Given the description of an element on the screen output the (x, y) to click on. 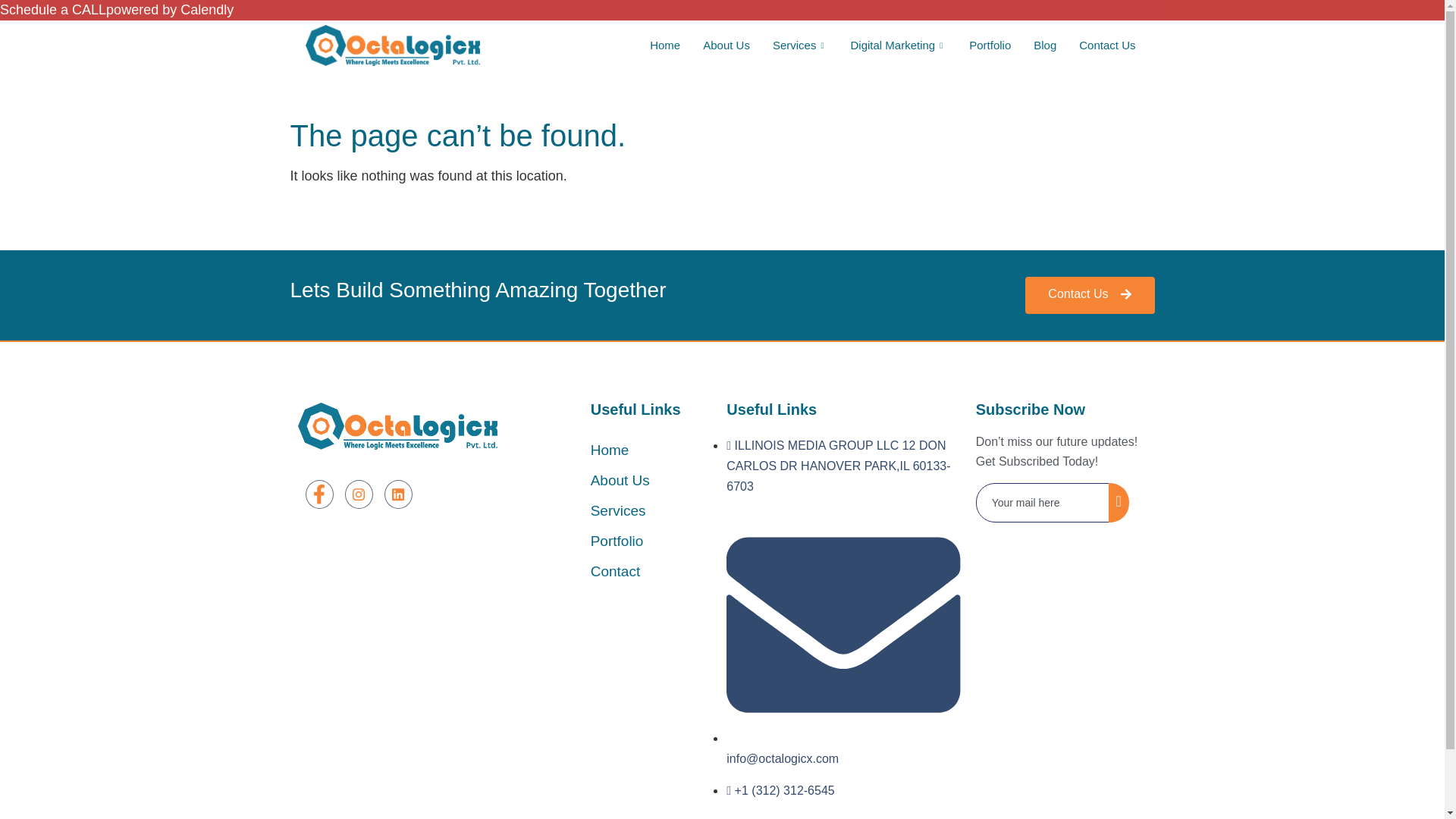
Portfolio (990, 45)
Home (665, 45)
Blog (1044, 45)
About Us (726, 45)
Digital Marketing (898, 45)
Contact Us (1107, 45)
Services (800, 45)
